Given the description of an element on the screen output the (x, y) to click on. 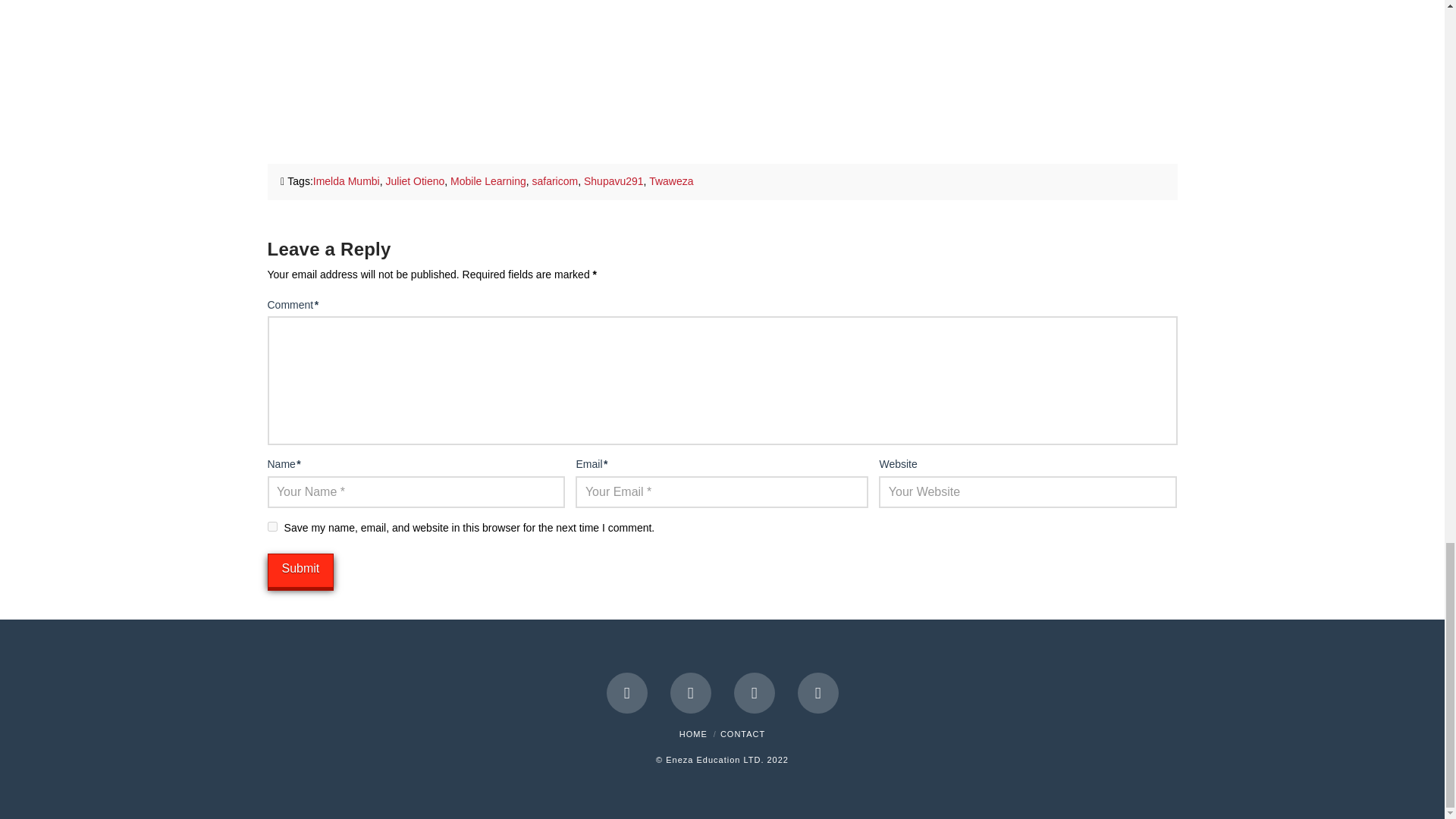
safaricom (555, 181)
Instagram (817, 692)
Twaweza (671, 181)
Facebook (627, 692)
Submit (299, 570)
CONTACT (742, 733)
Imelda Mumbi (346, 181)
HOME (693, 733)
Mobile Learning (487, 181)
LinkedIn (753, 692)
